Given the description of an element on the screen output the (x, y) to click on. 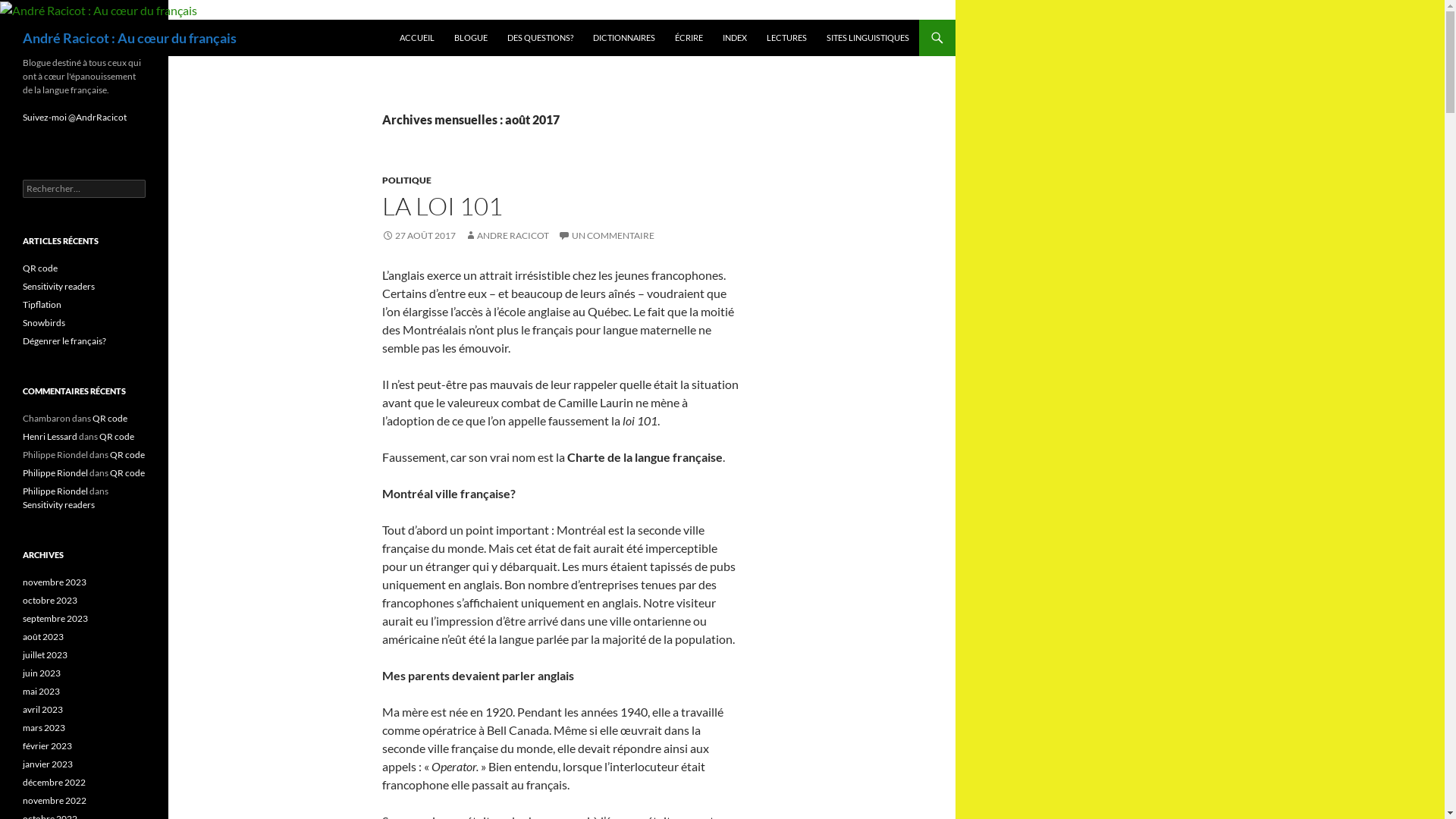
BLOGUE Element type: text (470, 37)
QR code Element type: text (116, 436)
QR code Element type: text (126, 454)
QR code Element type: text (39, 267)
ACCUEIL Element type: text (416, 37)
ANDRE RACICOT Element type: text (506, 235)
juillet 2023 Element type: text (44, 654)
Henri Lessard Element type: text (49, 436)
janvier 2023 Element type: text (47, 763)
mars 2023 Element type: text (43, 727)
juin 2023 Element type: text (41, 672)
Suivez-moi @AndrRacicot Element type: text (74, 116)
avril 2023 Element type: text (42, 709)
QR code Element type: text (126, 472)
INDEX Element type: text (734, 37)
Rechercher Element type: text (41, 9)
LECTURES Element type: text (786, 37)
mai 2023 Element type: text (40, 690)
Snowbirds Element type: text (43, 322)
Tipflation Element type: text (41, 304)
QR code Element type: text (109, 417)
Sensitivity readers Element type: text (58, 504)
novembre 2023 Element type: text (54, 581)
Recherche Element type: text (3, 18)
SITES LINGUISTIQUES Element type: text (867, 37)
UN COMMENTAIRE Element type: text (606, 235)
ALLER AU CONTENU Element type: text (398, 18)
novembre 2022 Element type: text (54, 800)
DES QUESTIONS? Element type: text (540, 37)
octobre 2023 Element type: text (49, 599)
Philippe Riondel Element type: text (54, 472)
POLITIQUE Element type: text (406, 179)
Philippe Riondel Element type: text (54, 490)
Sensitivity readers Element type: text (58, 285)
LA LOI 101 Element type: text (442, 205)
DICTIONNAIRES Element type: text (623, 37)
septembre 2023 Element type: text (54, 618)
